Given the description of an element on the screen output the (x, y) to click on. 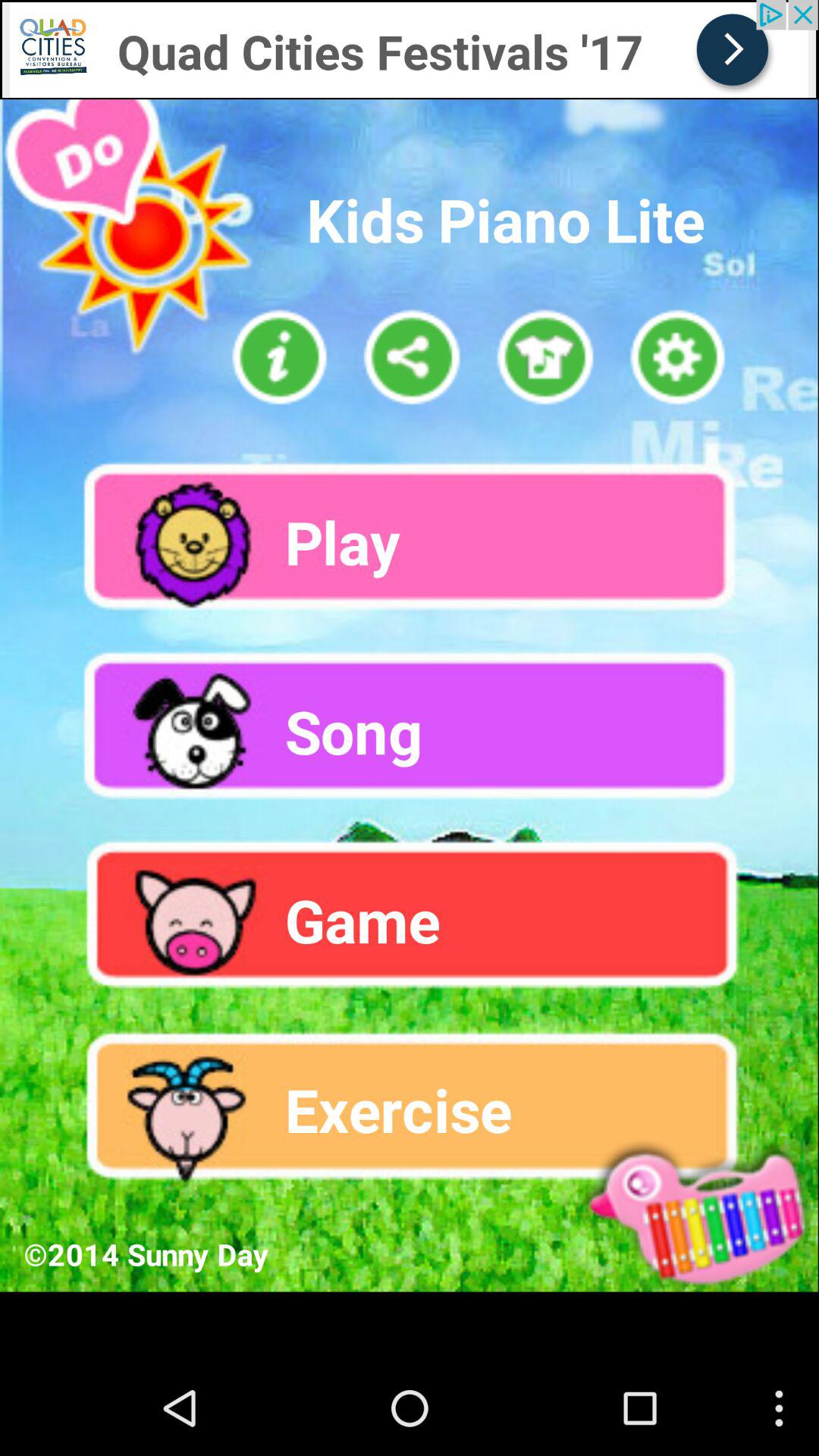
click for advertisement (116, 14)
